Given the description of an element on the screen output the (x, y) to click on. 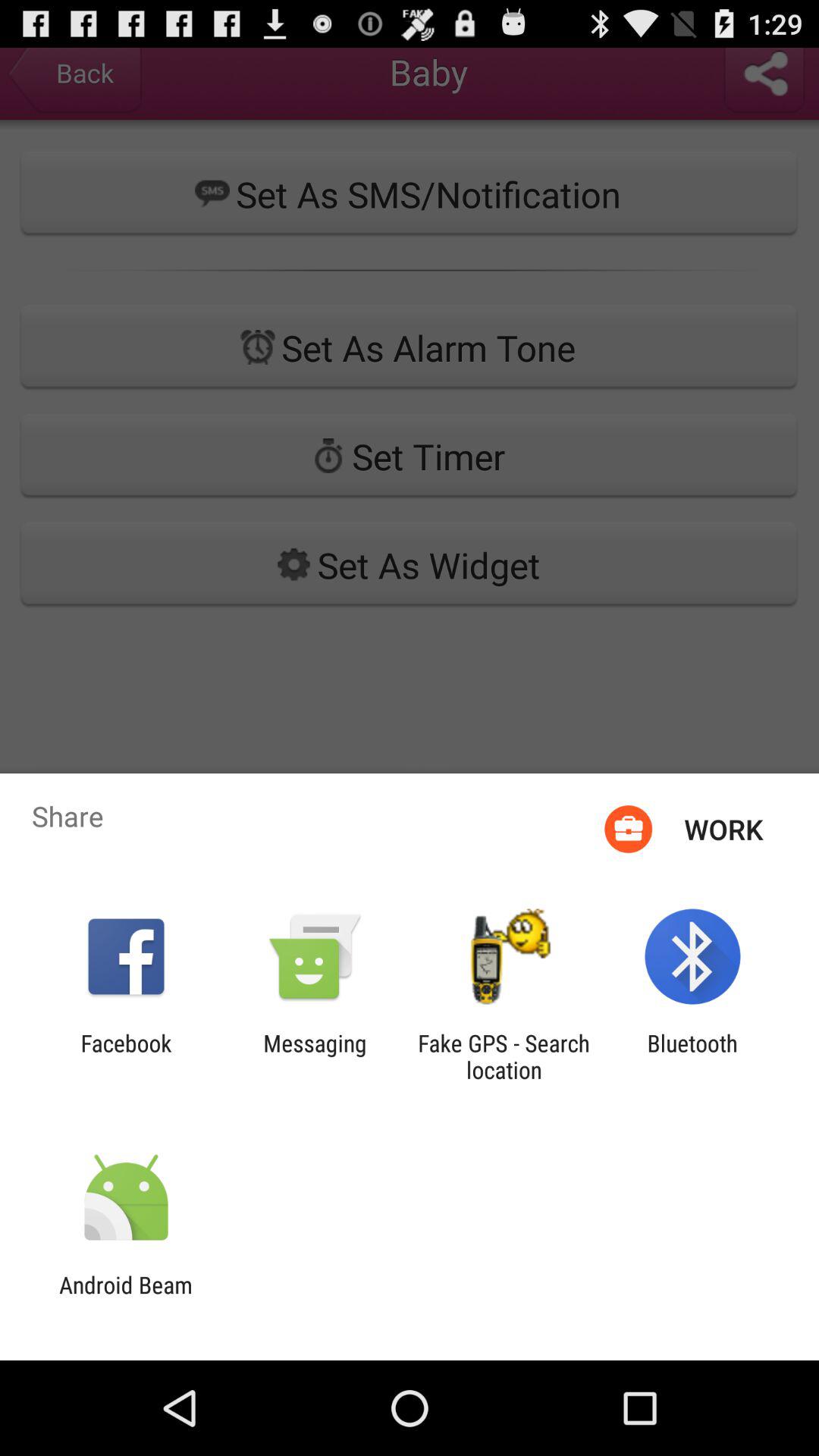
click item to the right of messaging item (503, 1056)
